Given the description of an element on the screen output the (x, y) to click on. 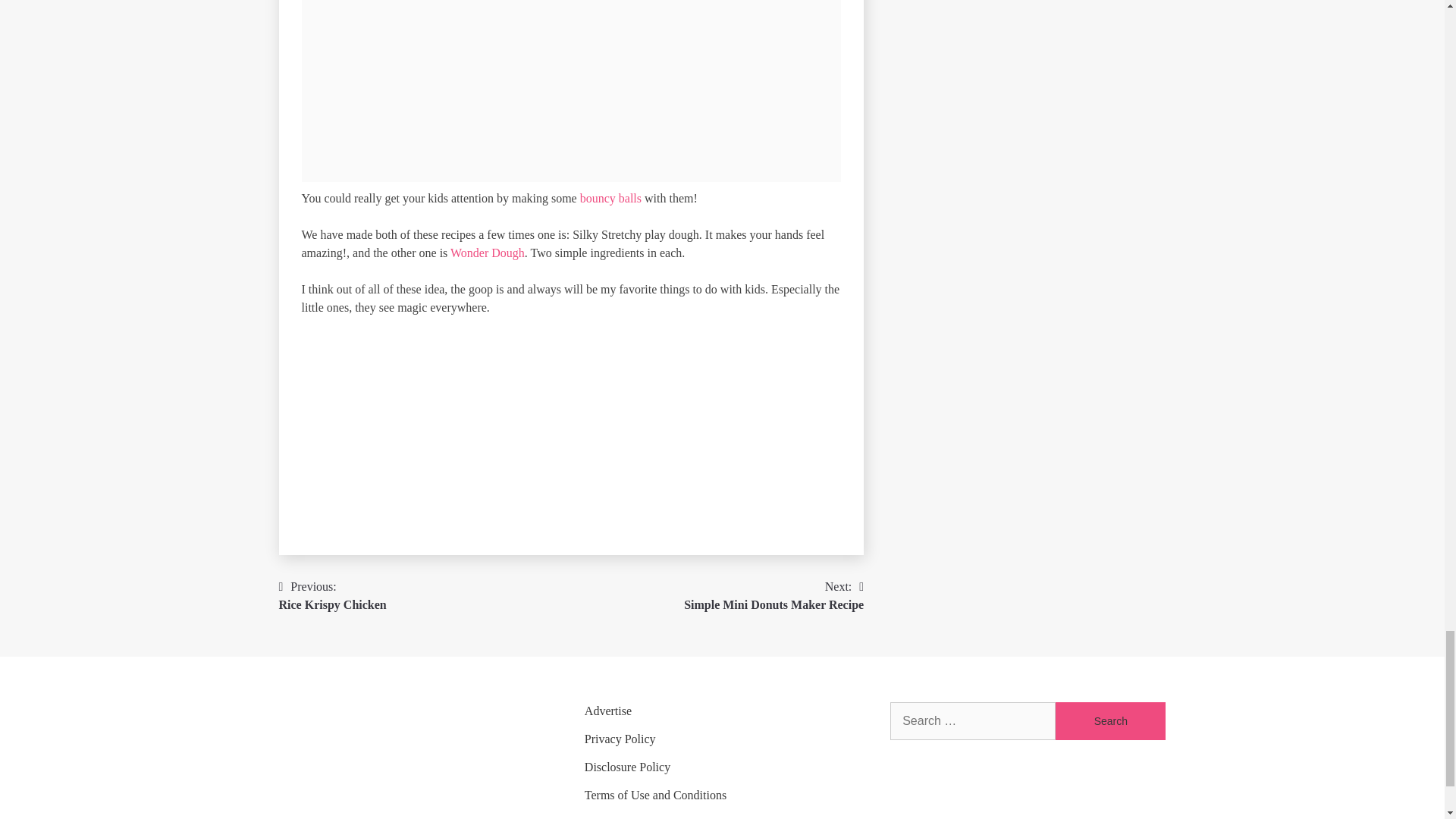
Search (1110, 720)
Search (1110, 720)
